Given the description of an element on the screen output the (x, y) to click on. 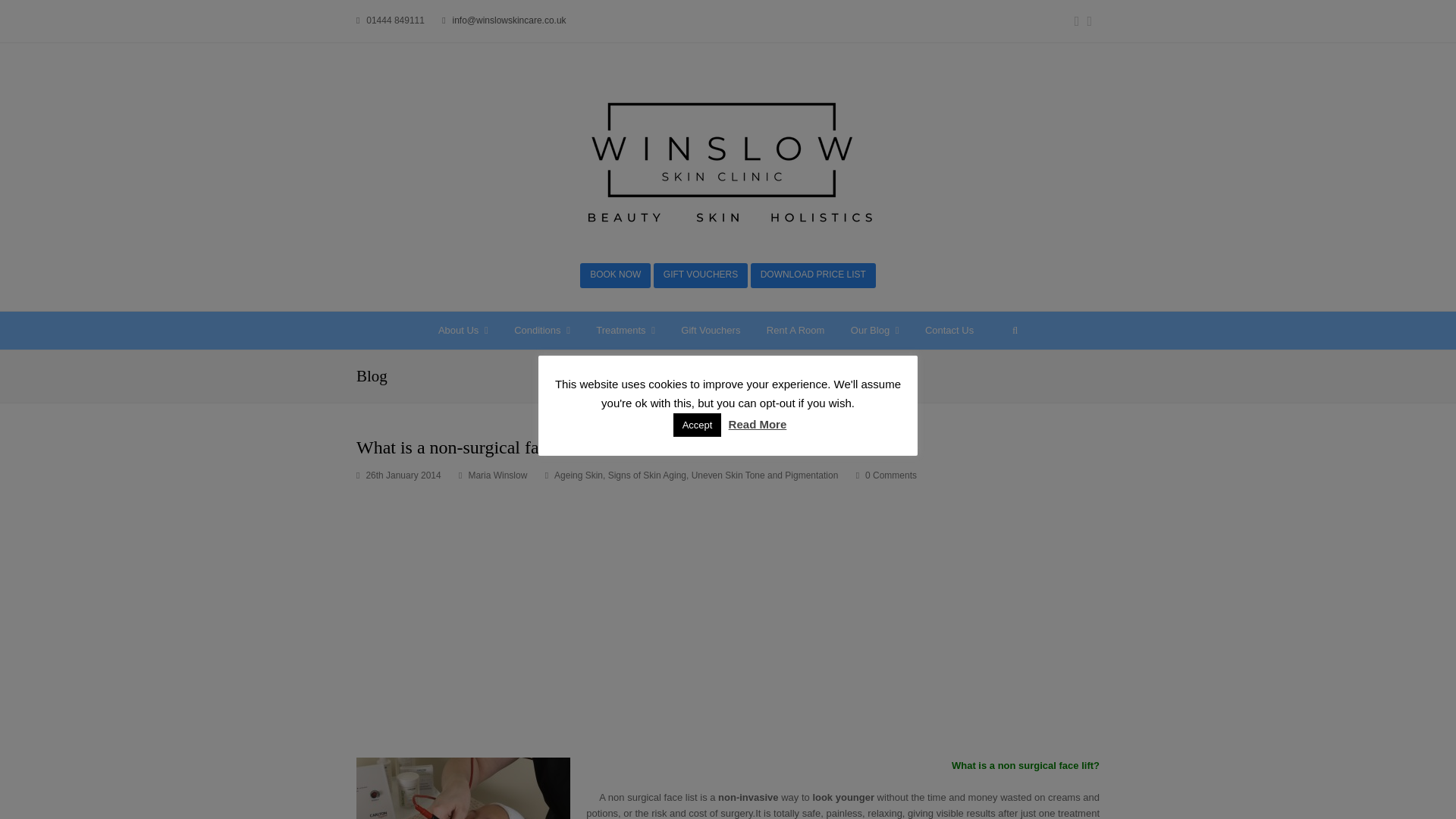
Treatments (625, 330)
BOOK NOW (614, 275)
DOWNLOAD PRICE LIST (813, 275)
GIFT VOUCHERS (700, 275)
About Us (462, 330)
Conditions (542, 330)
0 Comments (886, 476)
Posts by Maria Winslow (497, 475)
